Given the description of an element on the screen output the (x, y) to click on. 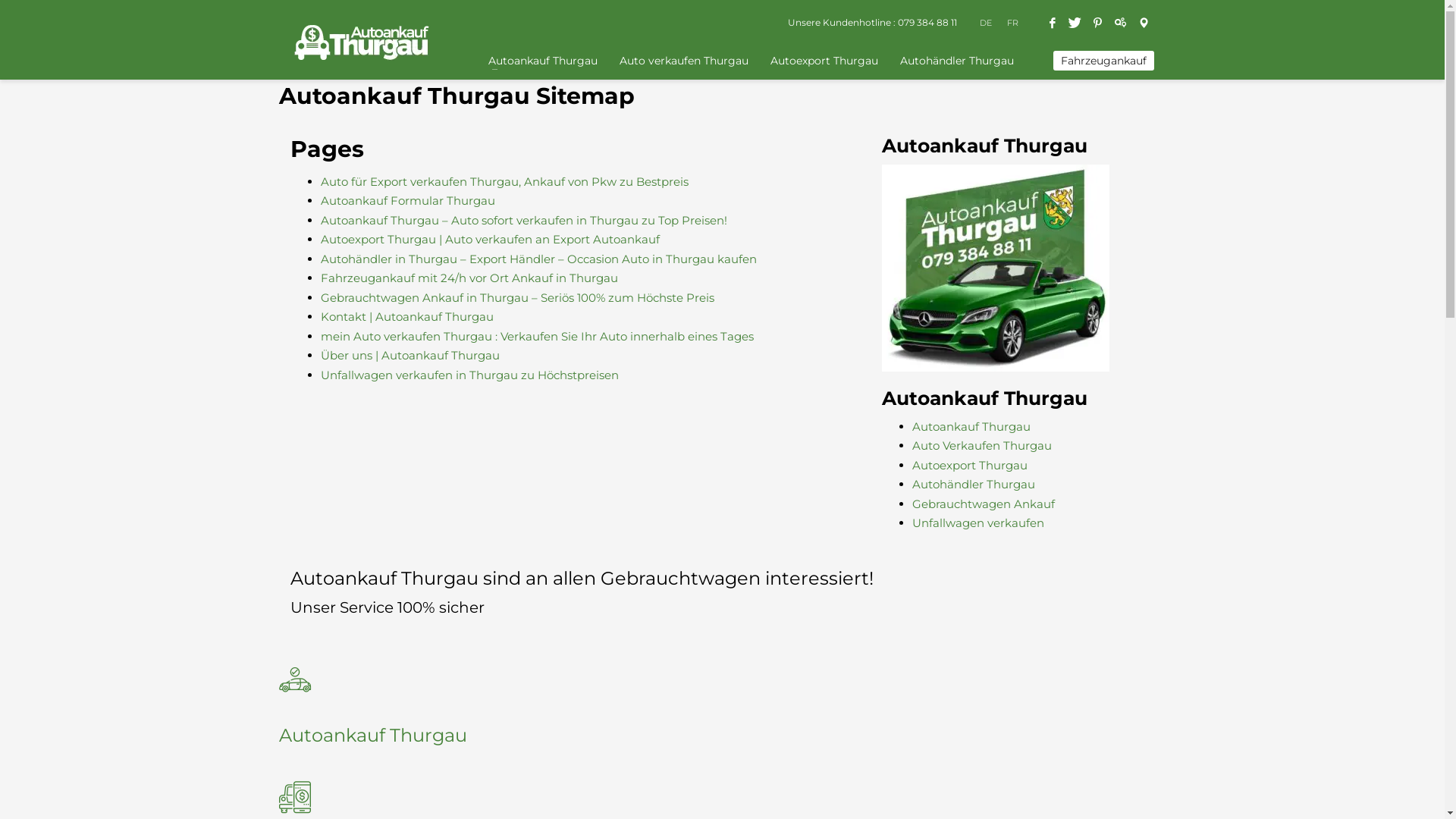
Autoankauf Thurgau | Facebook Element type: hover (1051, 22)
Autoankauf Formular Thurgau Element type: text (407, 200)
FR Element type: text (1012, 22)
Autoankauf Thurgau Element type: hover (294, 687)
Gebrauchtwagen Ankauf Element type: text (982, 502)
Zip.ch | Autoankauf Thurgau Element type: hover (1119, 22)
Autoexport Thurgau Element type: text (968, 465)
Autoexport Thurgau | Auto verkaufen an Export Autoankauf Element type: text (489, 239)
Auto Verkaufen Thurgau Element type: text (981, 445)
Unfallwagen verkaufen Element type: text (977, 522)
Kontakt | Autoankauf Thurgau Element type: text (406, 316)
DE Element type: text (985, 22)
Autoankauf Thurgau | Pinterest Element type: hover (1096, 22)
Autoankauf Thurgau Element type: text (542, 60)
Autoexport Thurgau Element type: text (824, 60)
autoexport Thurgau Element type: hover (294, 804)
Auto verkaufen Thurgau Element type: text (683, 60)
Autoankauf Thurgau Element type: text (373, 735)
Home Element type: text (326, 9)
Autoankauf Thurgau | Twitter Element type: hover (1074, 22)
vschweiz.ch | Autoankauf Thurgau Element type: hover (1142, 22)
Fahrzeugankauf Element type: text (1103, 60)
Autoankauf Thurgau Element type: text (970, 425)
Fahrzeugankauf mit 24/h vor Ort Ankauf in Thurgau Element type: text (468, 277)
